Given the description of an element on the screen output the (x, y) to click on. 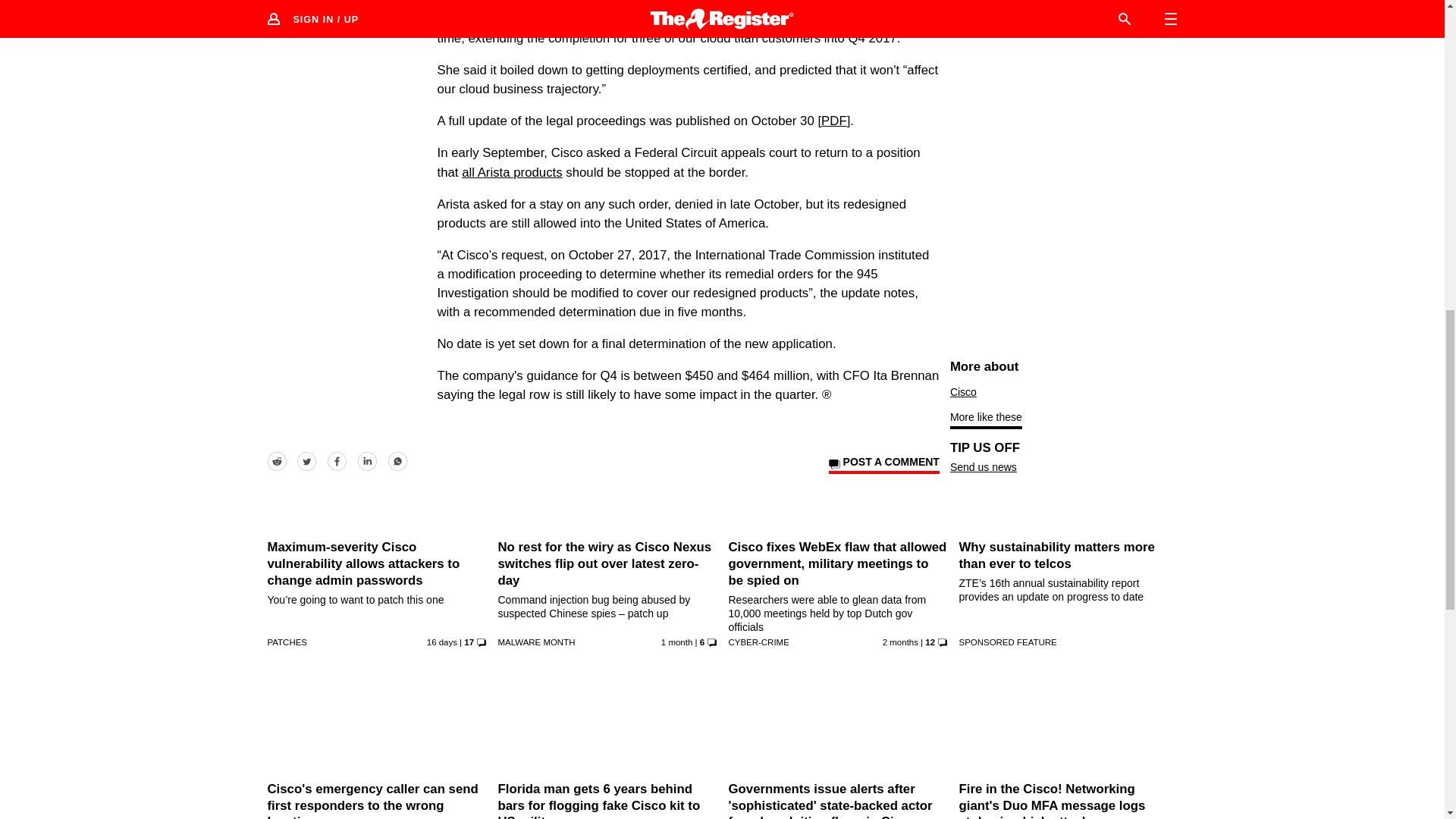
18 Jul 2024 10:37 (441, 642)
7 Jun 2024 15:4 (900, 642)
2 Jul 2024 16:37 (677, 642)
